Given the description of an element on the screen output the (x, y) to click on. 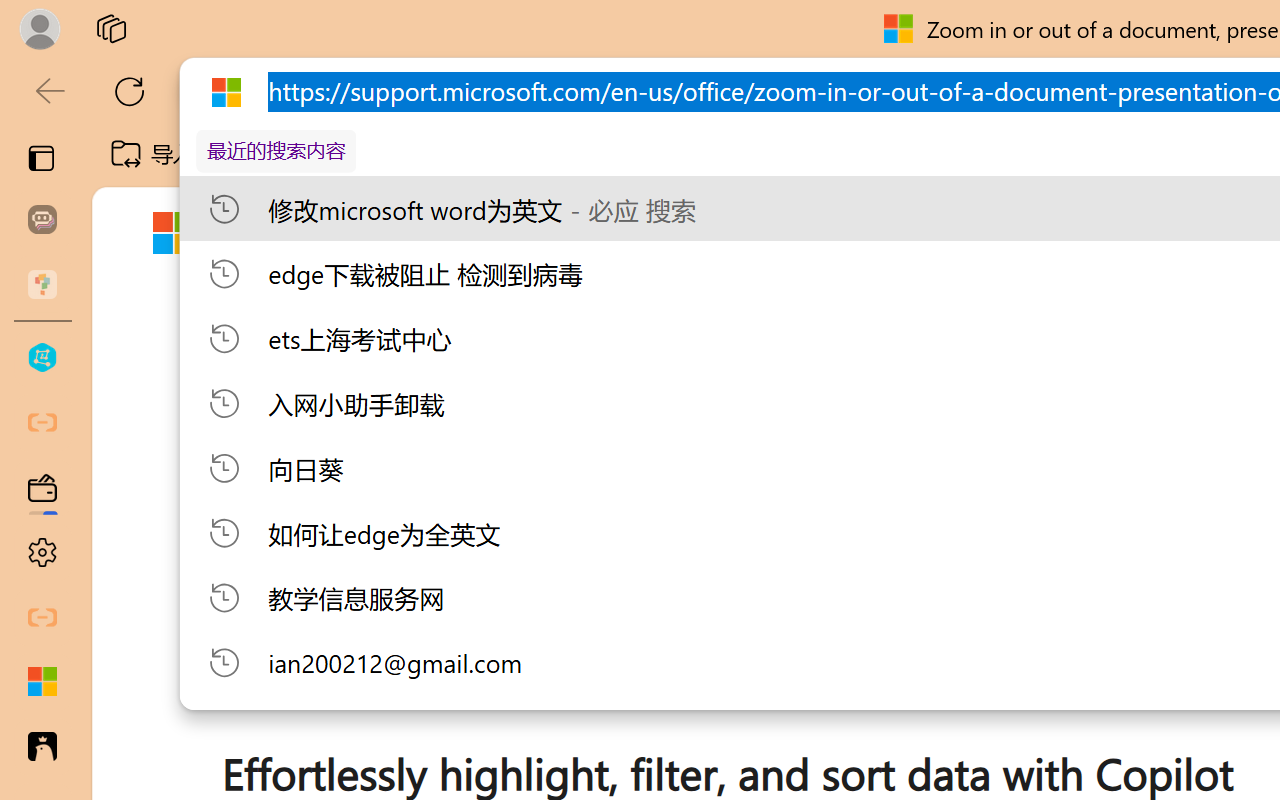
Support (484, 237)
Microsoft 365 (646, 231)
SJTUvpn (774, 154)
Gmail (637, 154)
More (1060, 234)
Wikipedia, the free encyclopedia (437, 154)
Adjust indents and spacing - Microsoft Support (42, 681)
